Given the description of an element on the screen output the (x, y) to click on. 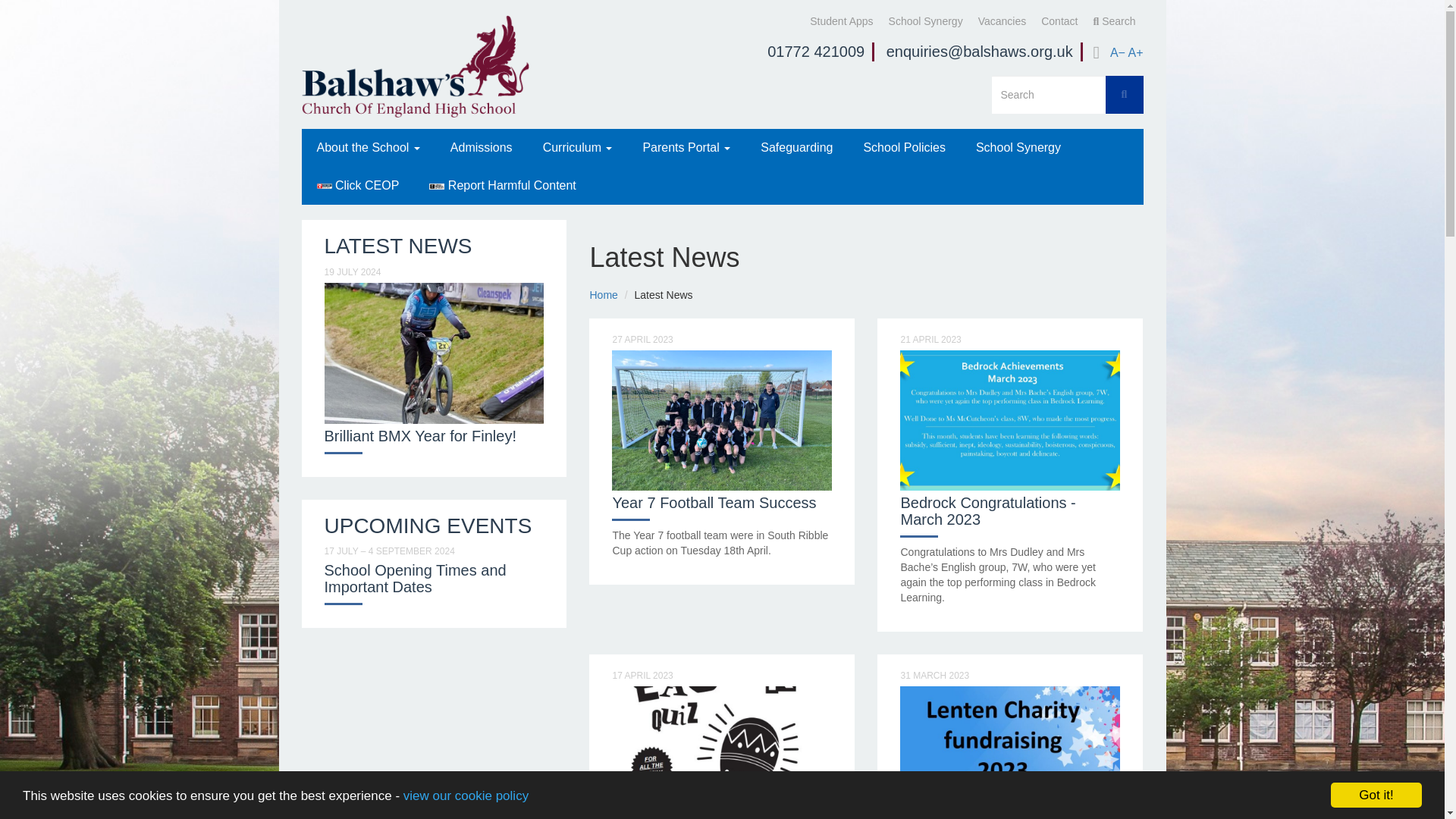
Student Apps (841, 21)
Search (1113, 21)
School Synergy (925, 21)
Contact (1058, 21)
Vacancies (1002, 21)
About the School (368, 147)
